Given the description of an element on the screen output the (x, y) to click on. 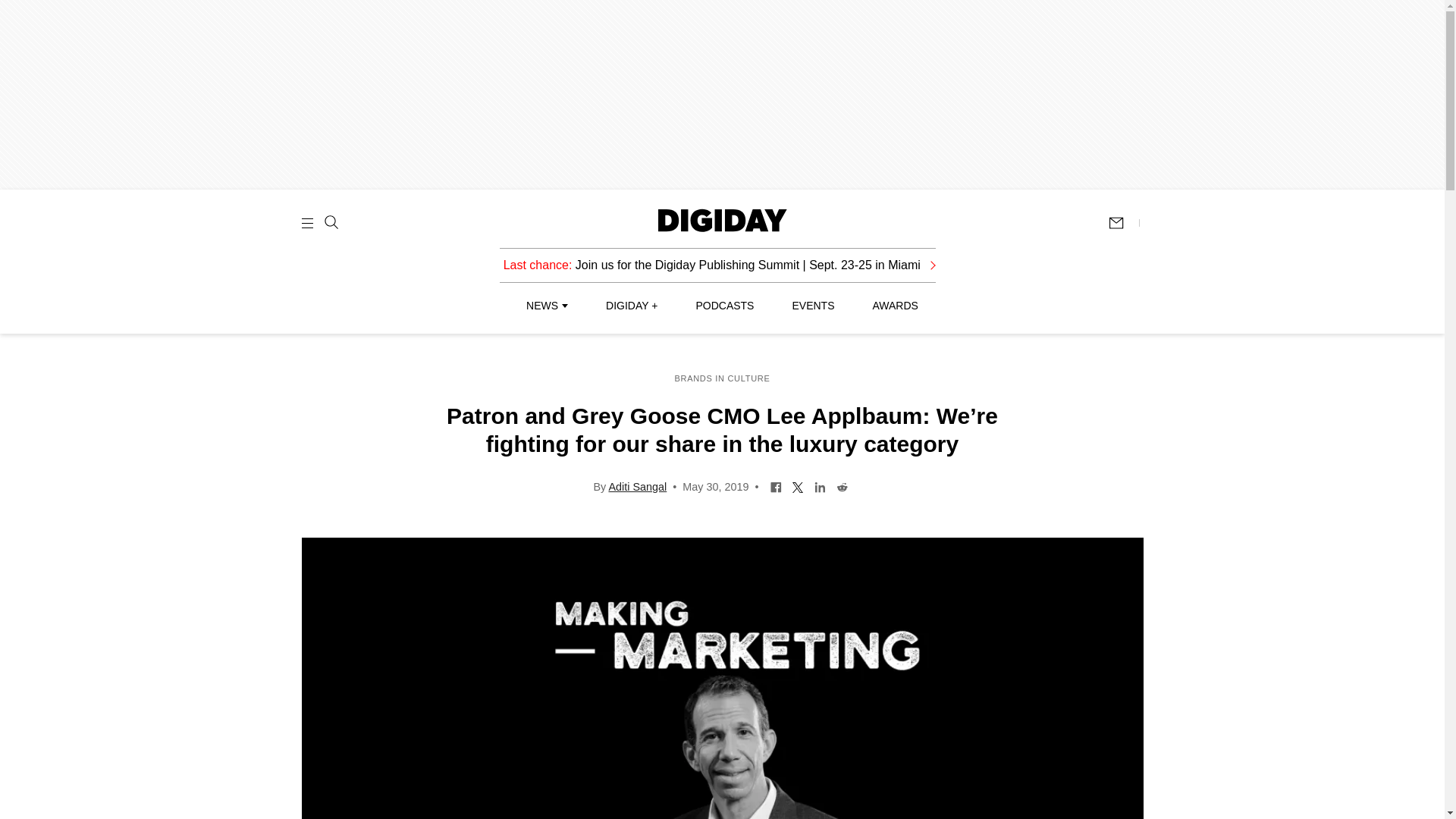
NEWS (546, 305)
Share on Facebook (776, 485)
Share on Twitter (798, 485)
AWARDS (894, 305)
Subscribe (1123, 223)
EVENTS (813, 305)
Share on LinkedIn (820, 485)
Share on Reddit (841, 485)
PODCASTS (725, 305)
